Given the description of an element on the screen output the (x, y) to click on. 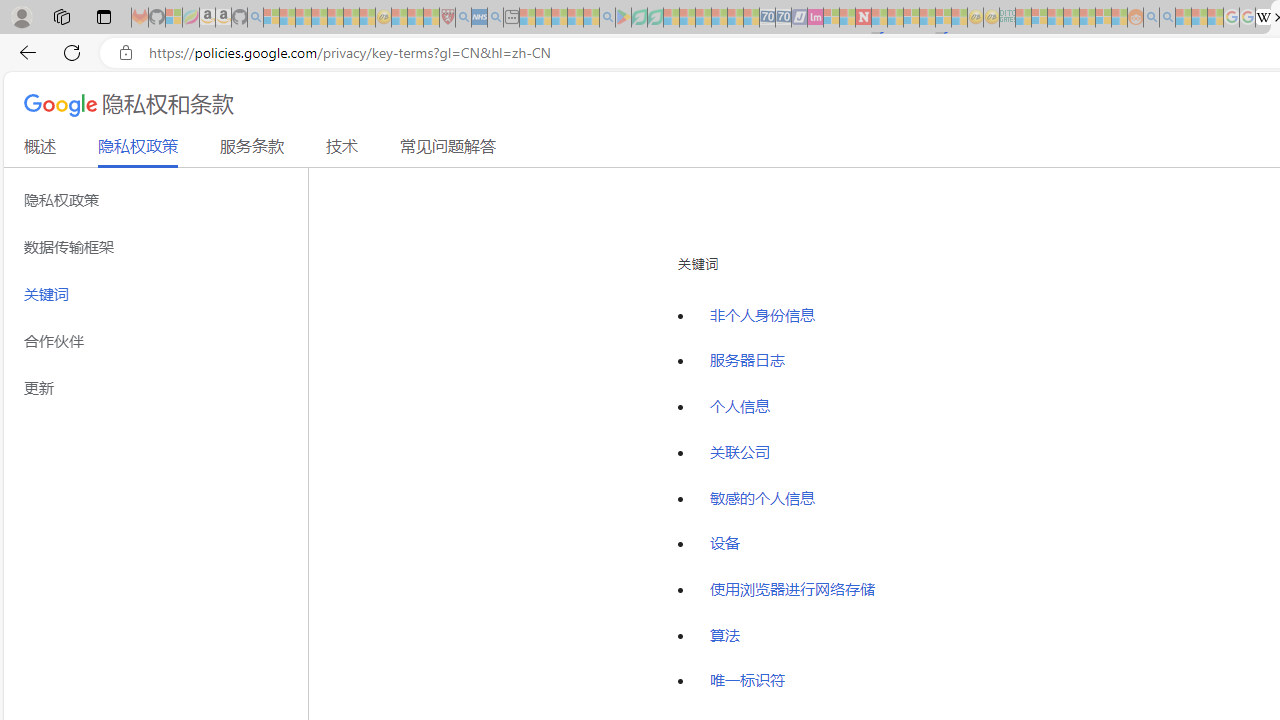
Target page - Wikipedia (1263, 17)
utah sues federal government - Search - Sleeping (495, 17)
